Given the description of an element on the screen output the (x, y) to click on. 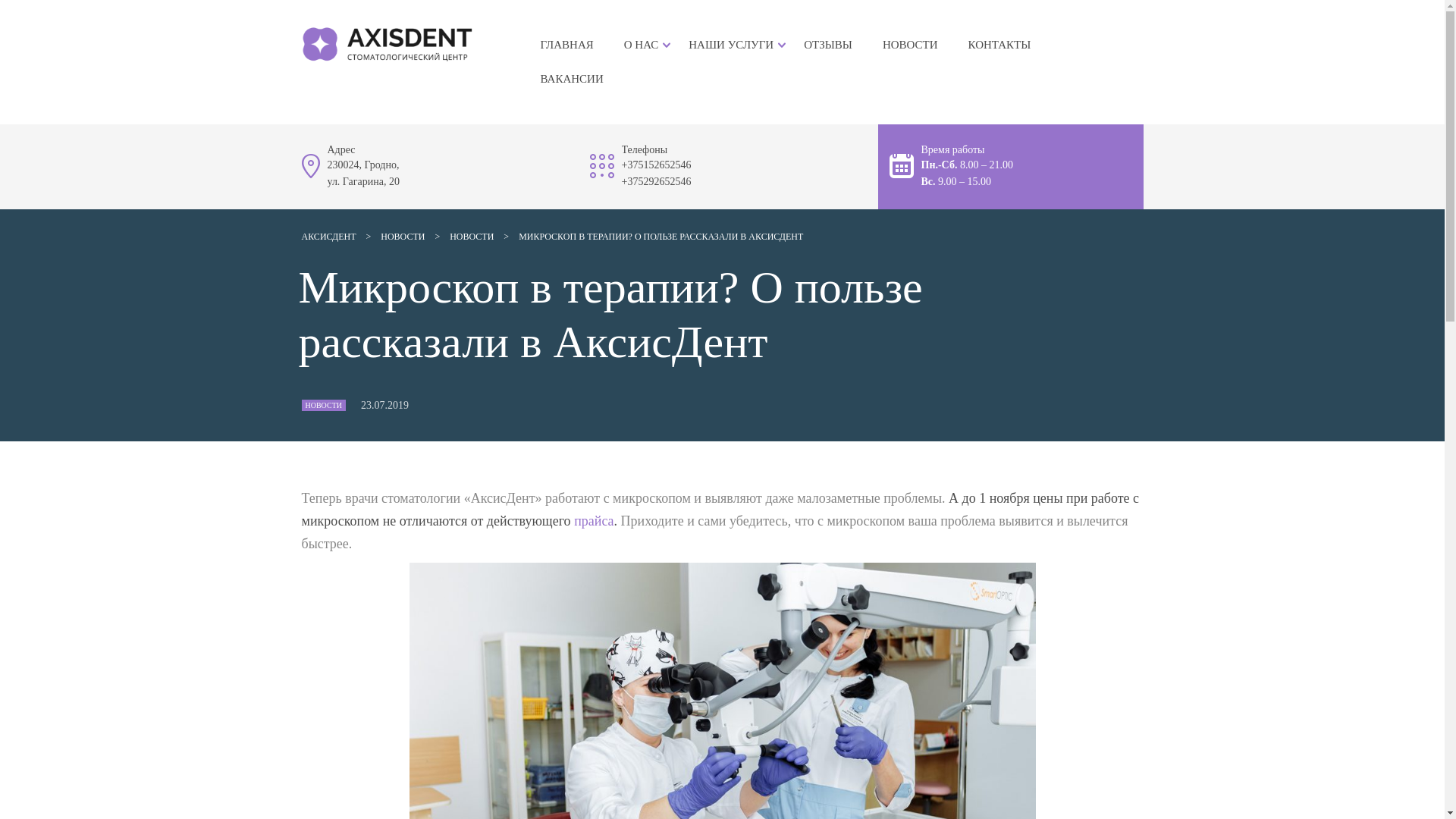
+375152652546 Element type: text (656, 164)
+375292652546 Element type: text (656, 181)
